Given the description of an element on the screen output the (x, y) to click on. 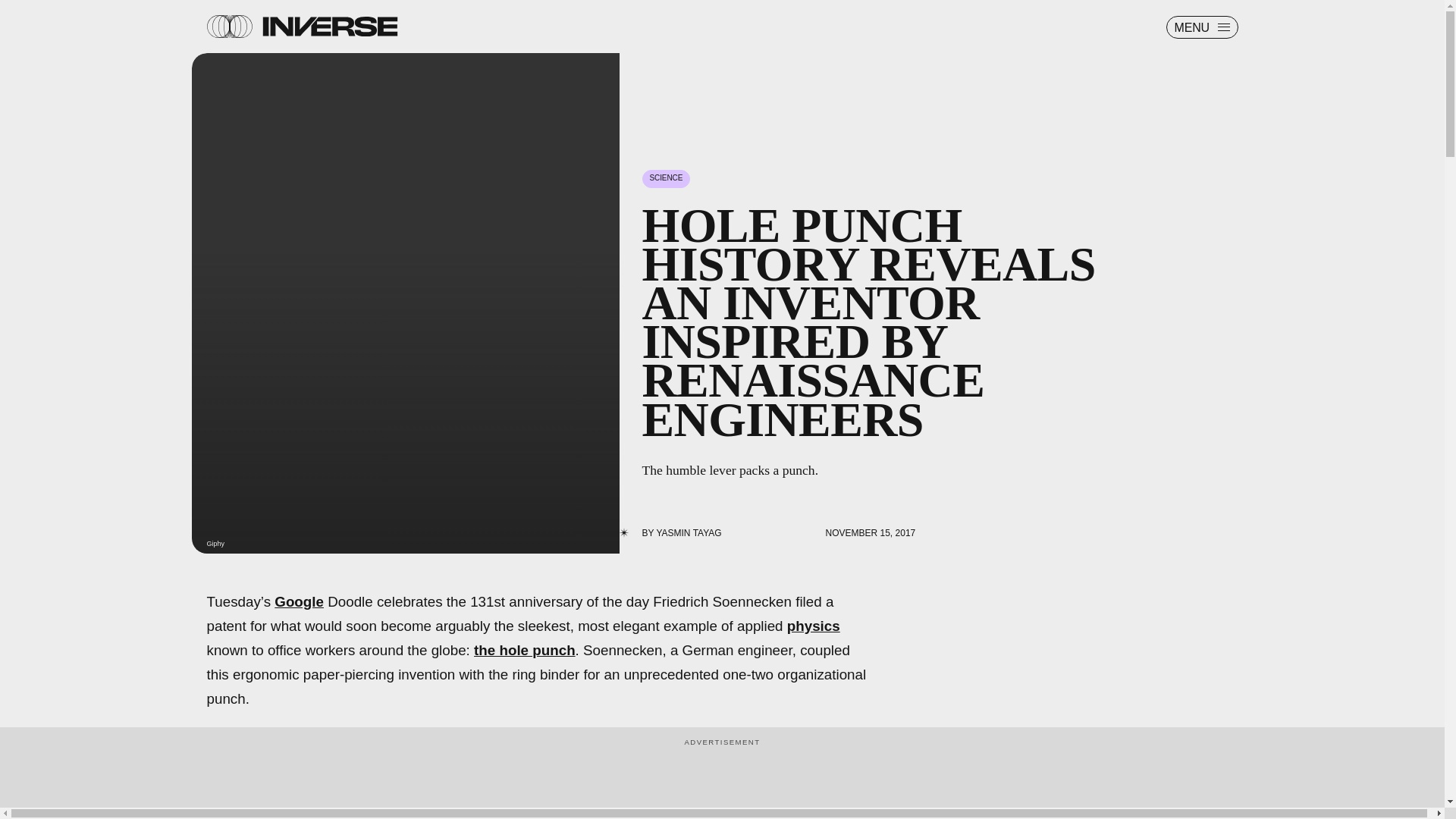
the hole punch (524, 650)
YASMIN TAYAG (688, 532)
Inverse (328, 26)
Google (299, 601)
physics (813, 625)
